Given the description of an element on the screen output the (x, y) to click on. 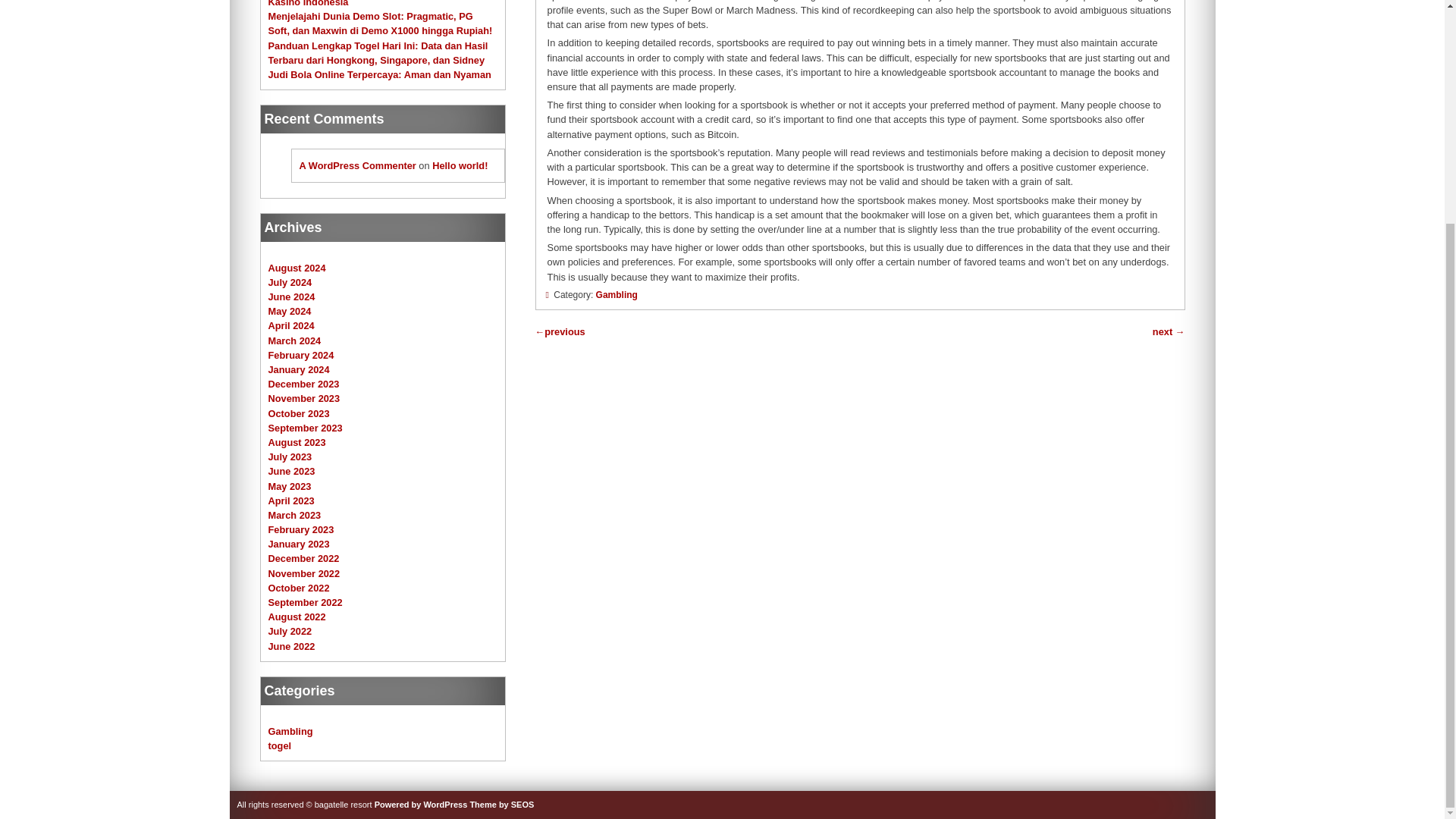
February 2023 (300, 529)
July 2024 (290, 282)
August 2023 (296, 441)
April 2023 (290, 500)
December 2022 (303, 558)
March 2023 (294, 514)
December 2023 (303, 383)
August 2024 (296, 267)
January 2023 (298, 543)
November 2022 (303, 573)
January 2024 (298, 369)
July 2023 (290, 456)
October 2022 (298, 587)
